Given the description of an element on the screen output the (x, y) to click on. 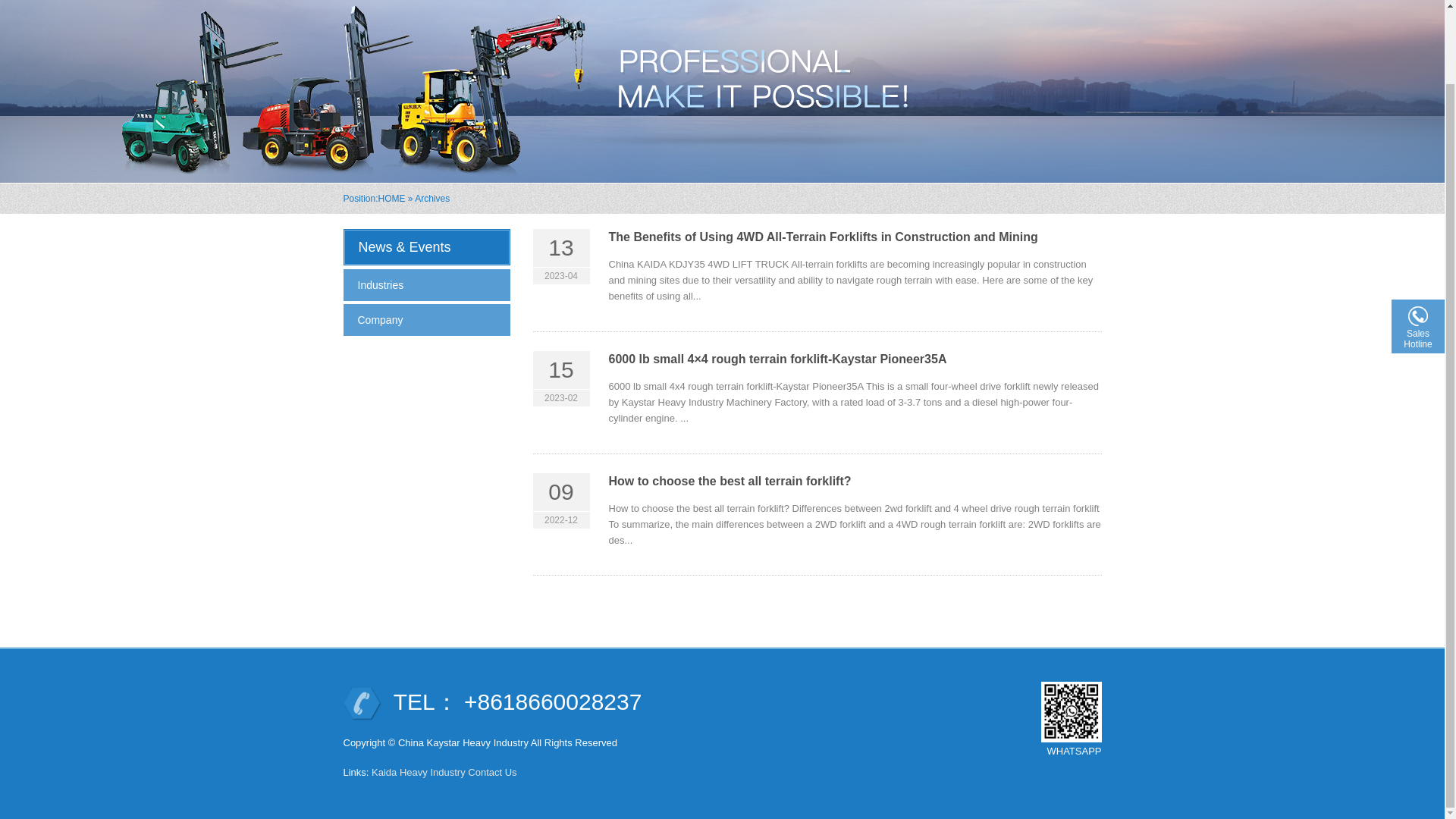
HOME (392, 198)
Company (425, 319)
How to choose the best all terrain forklift? (729, 481)
Kaida Heavy Industry (418, 772)
Contact Us (491, 772)
Industries (425, 285)
